Given the description of an element on the screen output the (x, y) to click on. 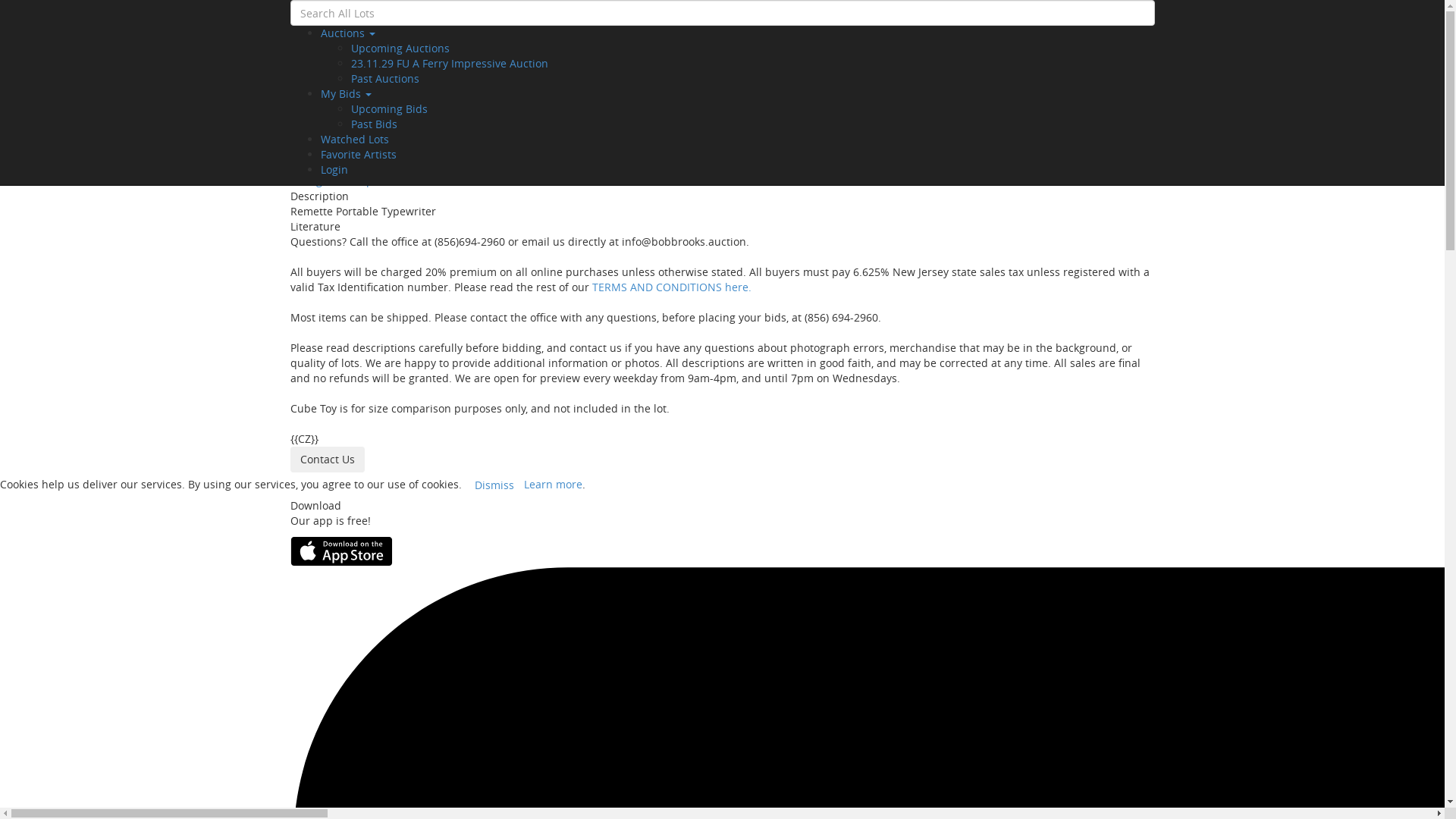
My Bids Element type: text (345, 93)
23.11.29 FU A Ferry Impressive Auction Element type: text (448, 63)
Watch Element type: text (981, 12)
Favorite Artists Element type: text (357, 154)
Past Auctions Element type: text (384, 78)
Past Bids Element type: text (373, 123)
Jump To Lot Element type: text (468, 58)
Contact Us Element type: text (326, 459)
Back to Auction Element type: text (334, 37)
22.05.18 Springtime Collectibles Auction Element type: text (391, 150)
Login Element type: text (333, 169)
Watched Lots Element type: text (354, 138)
TERMS AND CONDITIONS here. Element type: text (670, 286)
Upcoming Auctions Element type: text (399, 47)
Learn more Element type: text (553, 483)
Upcoming Bids Element type: text (388, 108)
Dismiss Element type: text (494, 485)
Vintage & Antique Element type: text (335, 180)
Auctions Element type: text (347, 32)
